Given the description of an element on the screen output the (x, y) to click on. 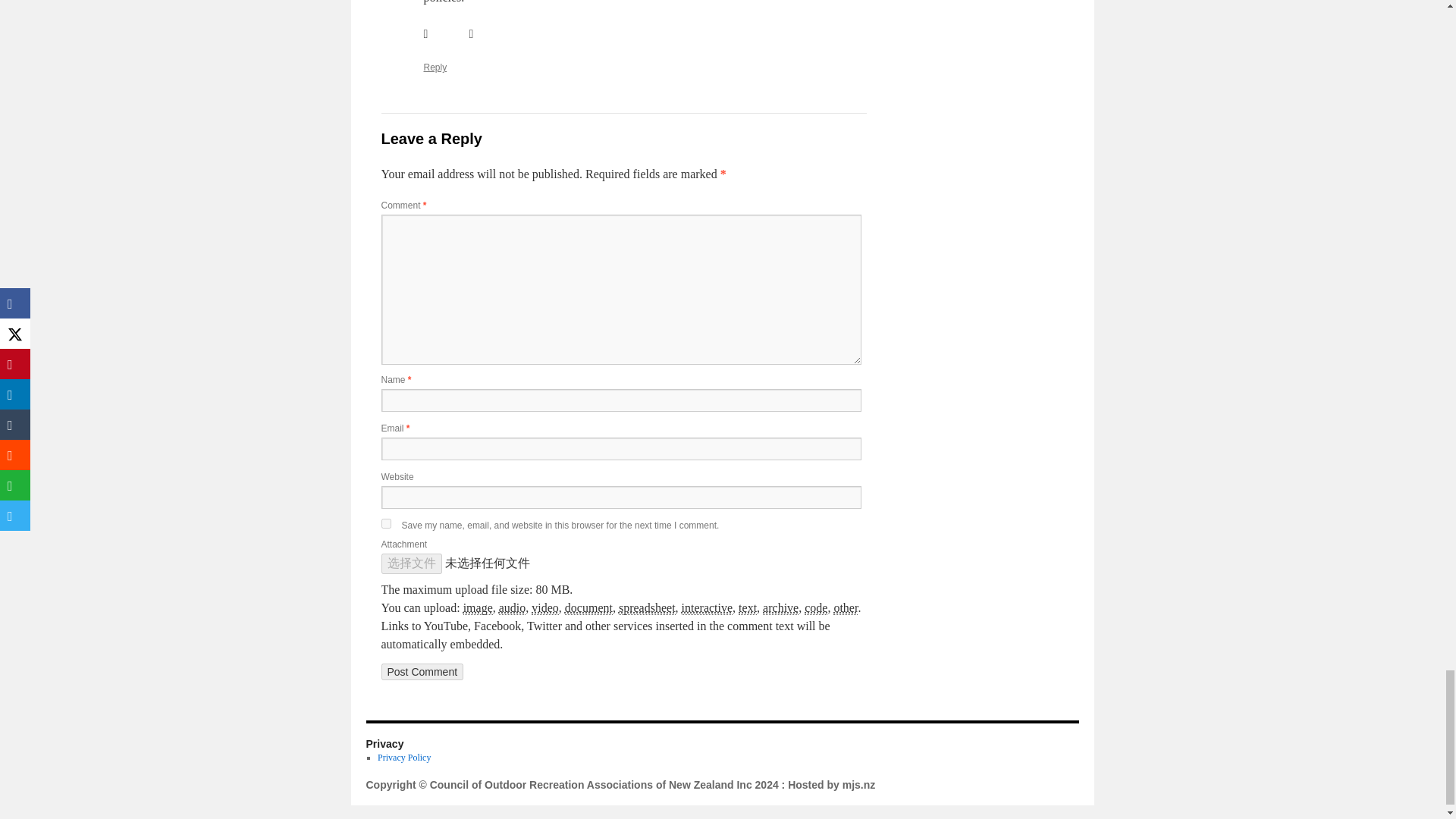
Post Comment (421, 671)
jpg, jpeg, jpe, gif, png, bmp, tiff, tif, ico (478, 608)
Post Comment (421, 671)
Reply (434, 67)
yes (385, 523)
mp3, m4a, m4b, aac, ram, wav, ogg, oga, flac, wma, mka (512, 608)
Privacy Policy (403, 757)
